Given the description of an element on the screen output the (x, y) to click on. 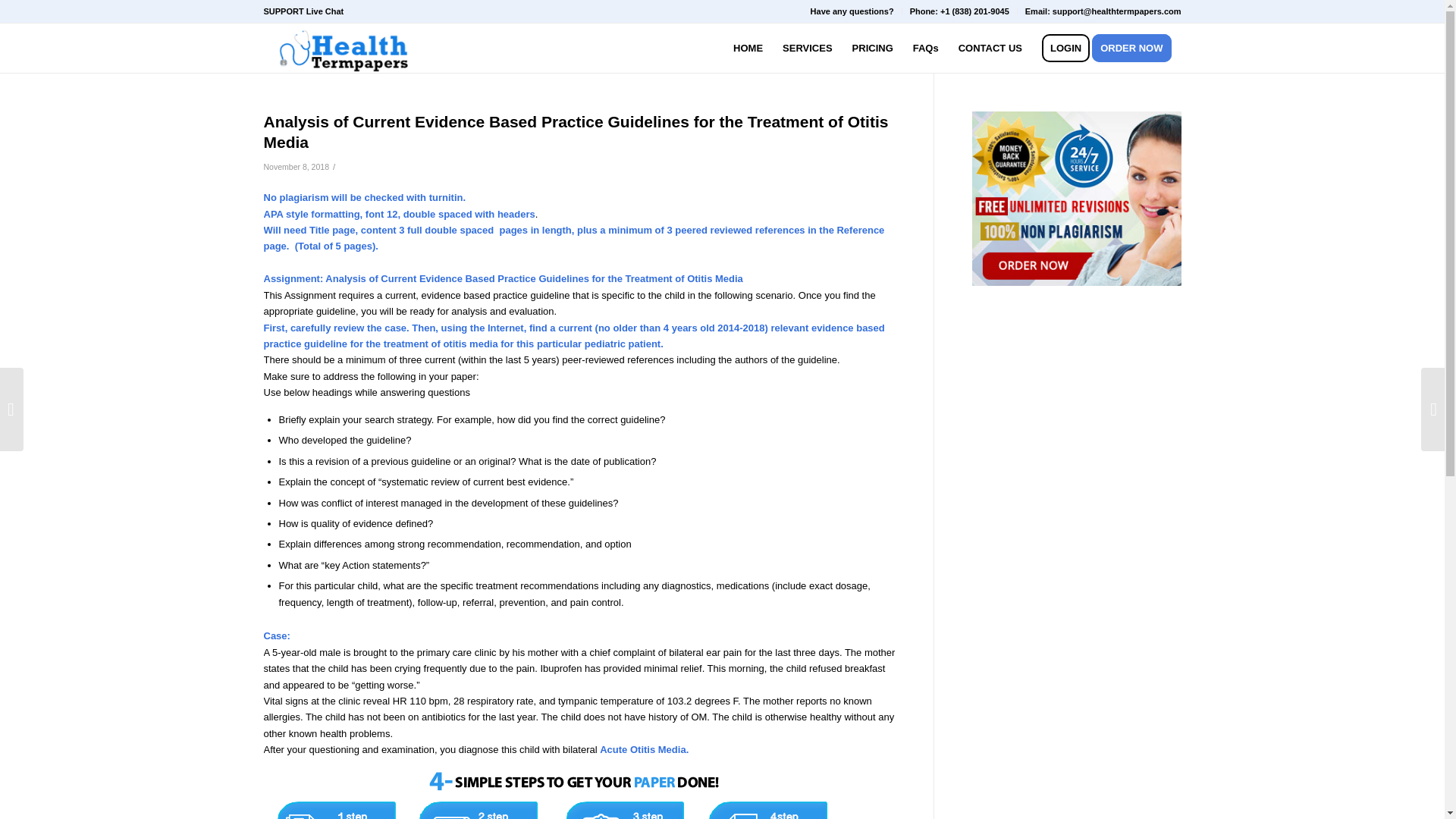
CONTACT US (990, 47)
SERVICES (808, 47)
FAQs (925, 47)
ORDER NOW (1136, 47)
PRICING (872, 47)
Live Chat (324, 10)
LOGIN (1065, 47)
Have any questions? (851, 11)
